Given the description of an element on the screen output the (x, y) to click on. 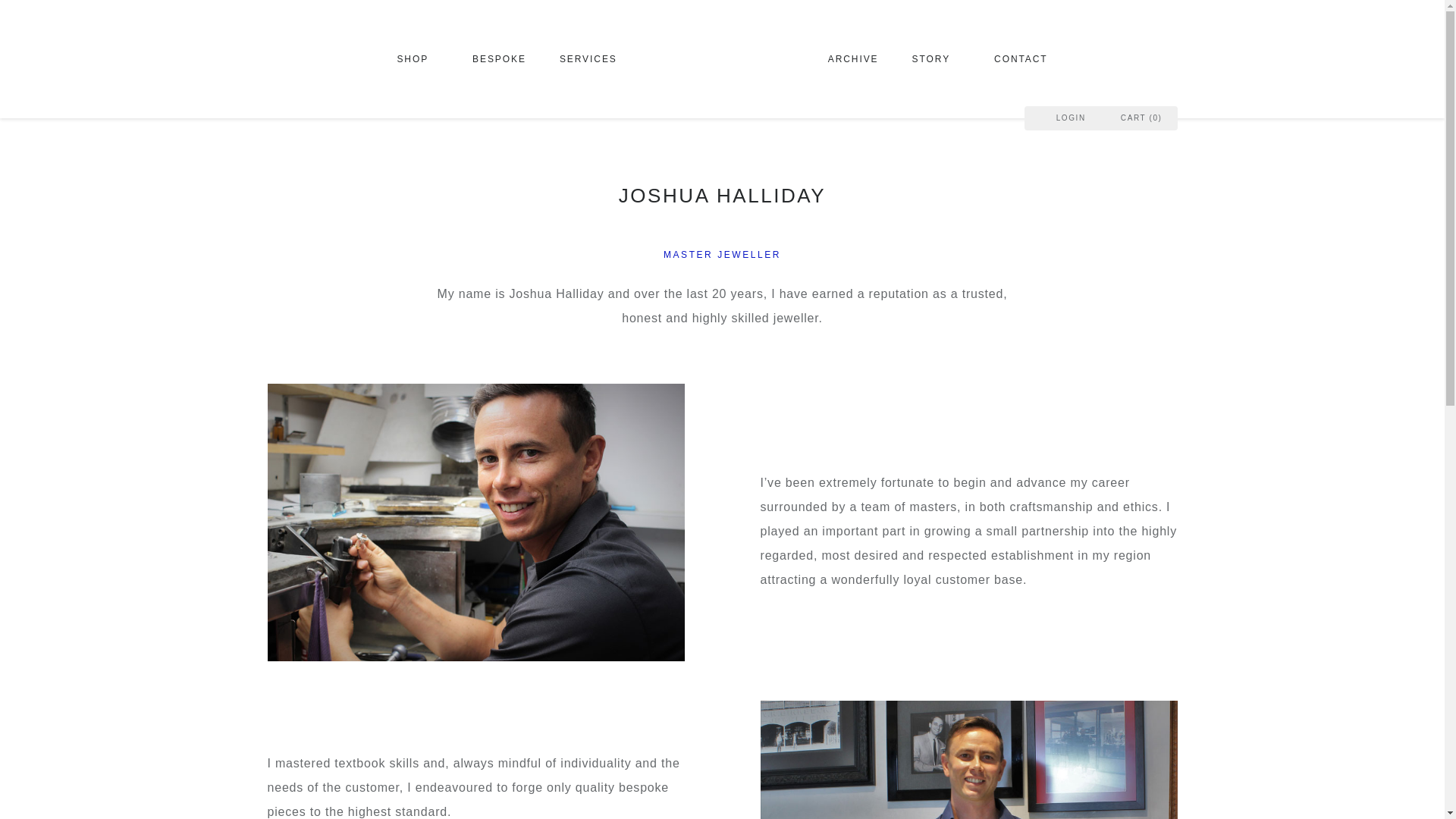
SERVICES (594, 58)
CONTACT (1012, 58)
BESPOKE (499, 58)
STORY (936, 58)
SHOP (425, 58)
LOGIN (1062, 118)
ARCHIVE (852, 58)
